Given the description of an element on the screen output the (x, y) to click on. 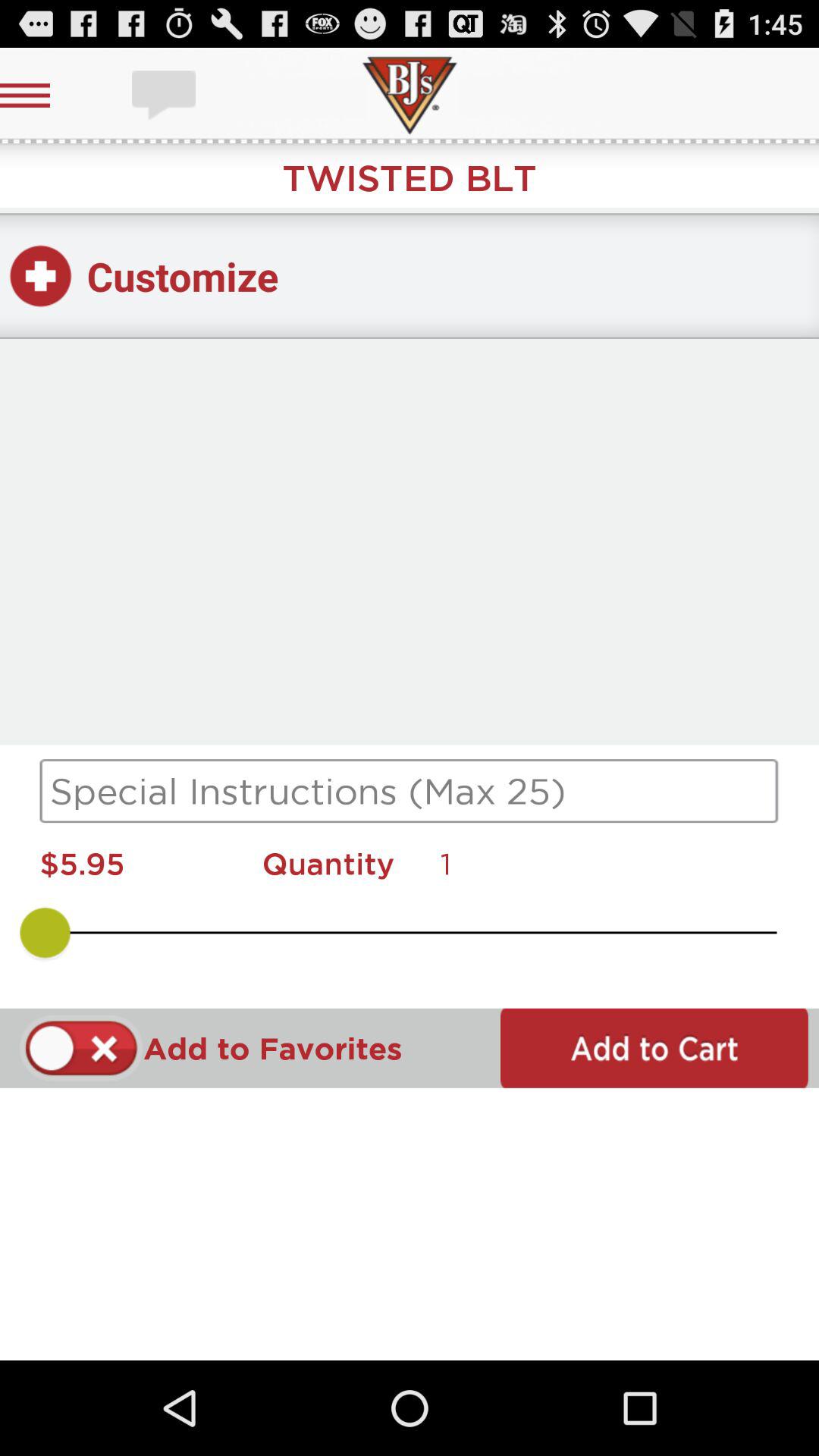
view instruction (409, 790)
